Given the description of an element on the screen output the (x, y) to click on. 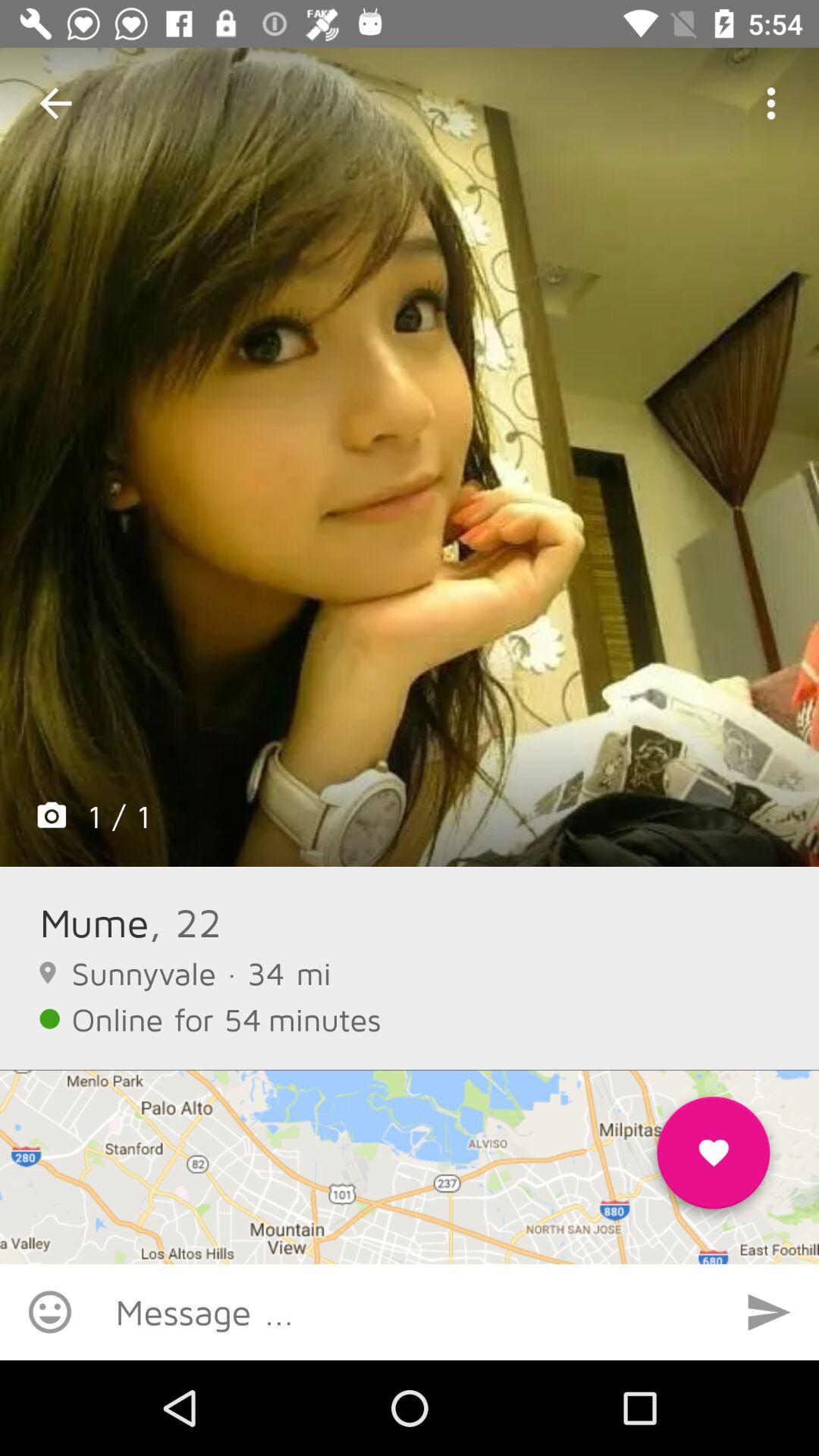
add emoji (49, 1312)
